Given the description of an element on the screen output the (x, y) to click on. 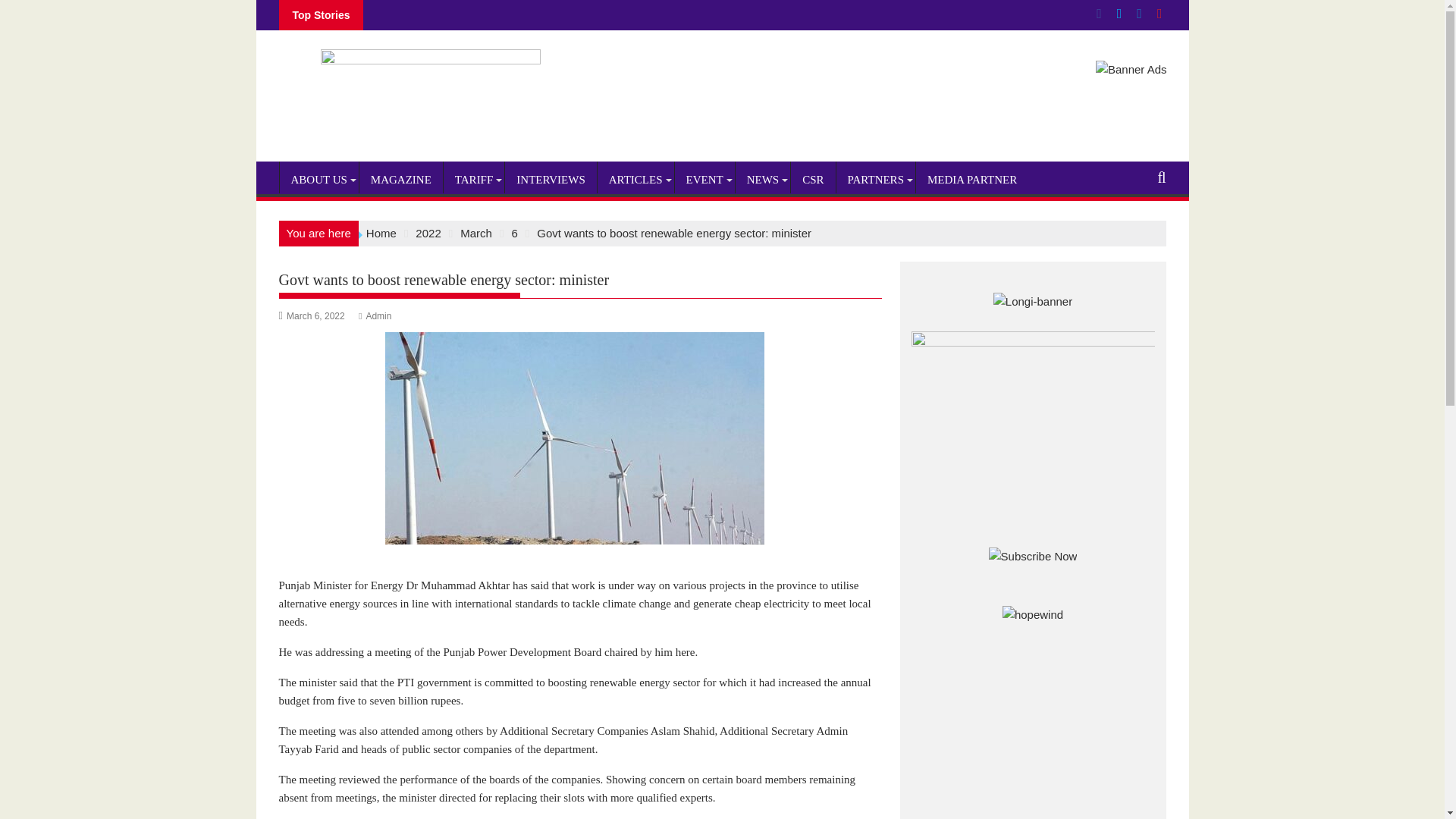
ABOUT US (318, 179)
CSR (812, 179)
NEWS (762, 179)
MAGAZINE (400, 179)
TARIFF (473, 179)
PARTNERS (875, 179)
EVENT (705, 179)
ARTICLES (635, 179)
INTERVIEWS (550, 179)
